Given the description of an element on the screen output the (x, y) to click on. 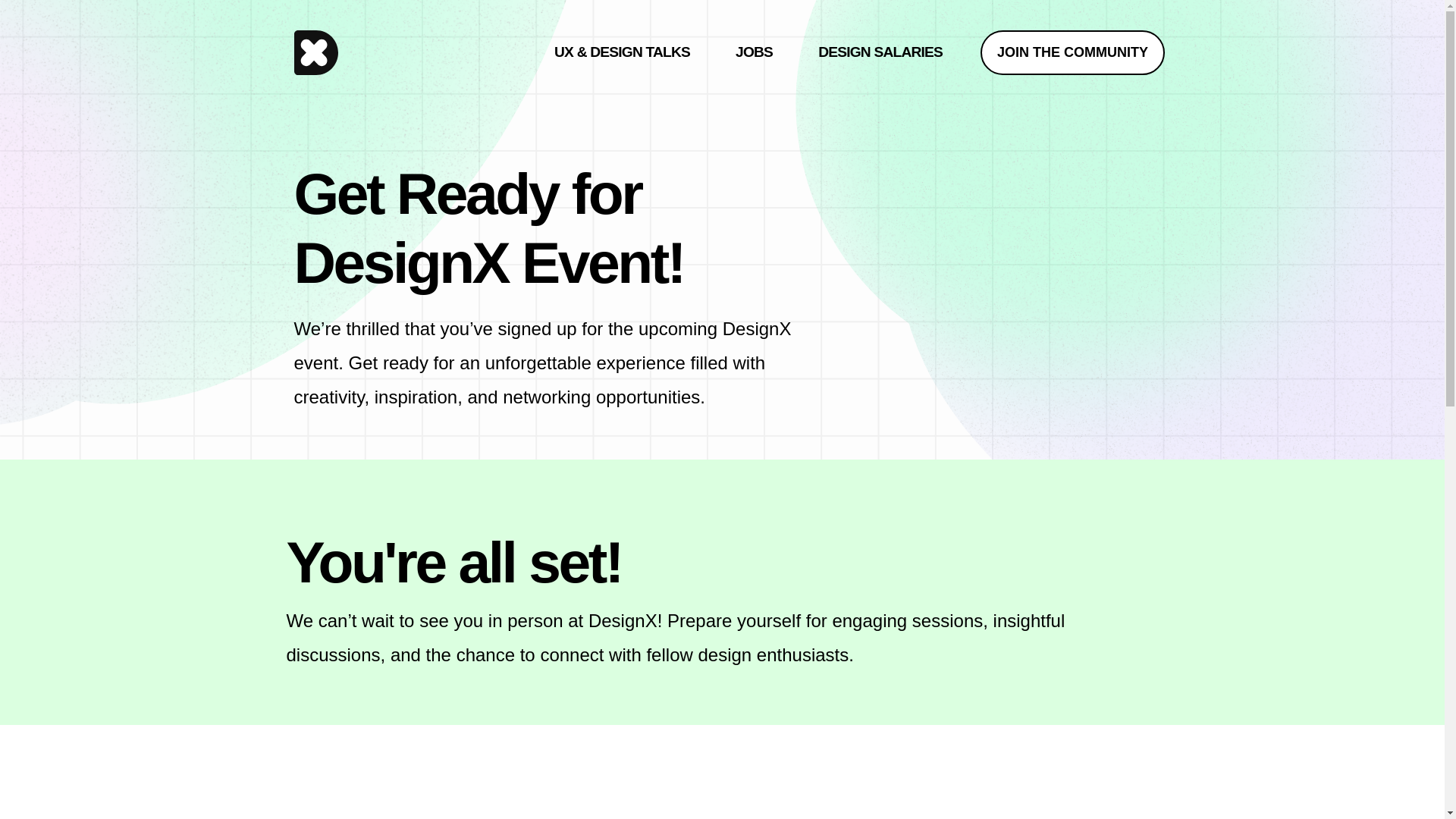
JOIN THE COMMUNITY (1071, 52)
JOBS (754, 52)
DESIGN SALARIES (880, 52)
dx-logo-glyph (316, 52)
